Given the description of an element on the screen output the (x, y) to click on. 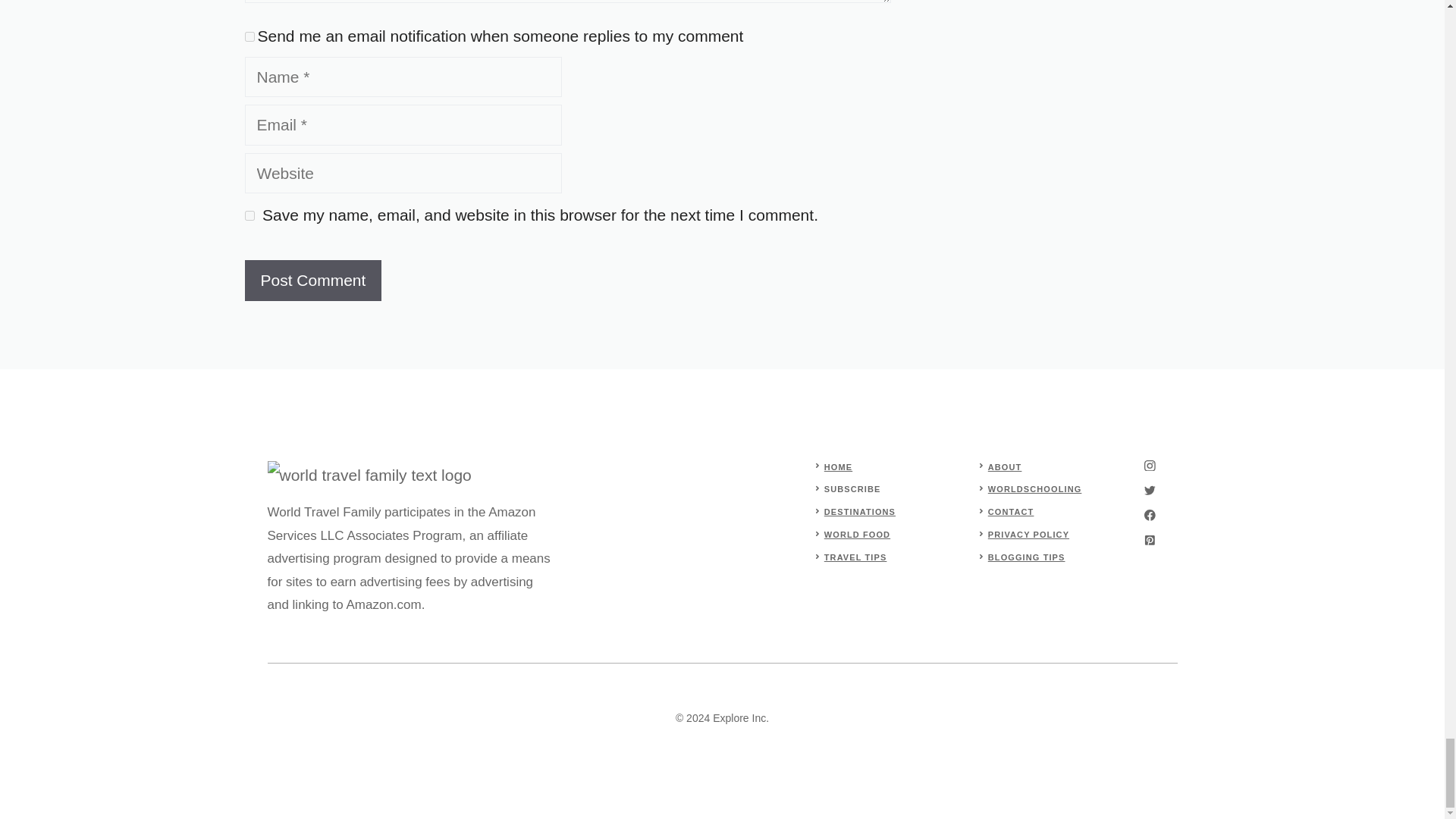
Post Comment (312, 280)
yes (248, 215)
1 (248, 36)
